Given the description of an element on the screen output the (x, y) to click on. 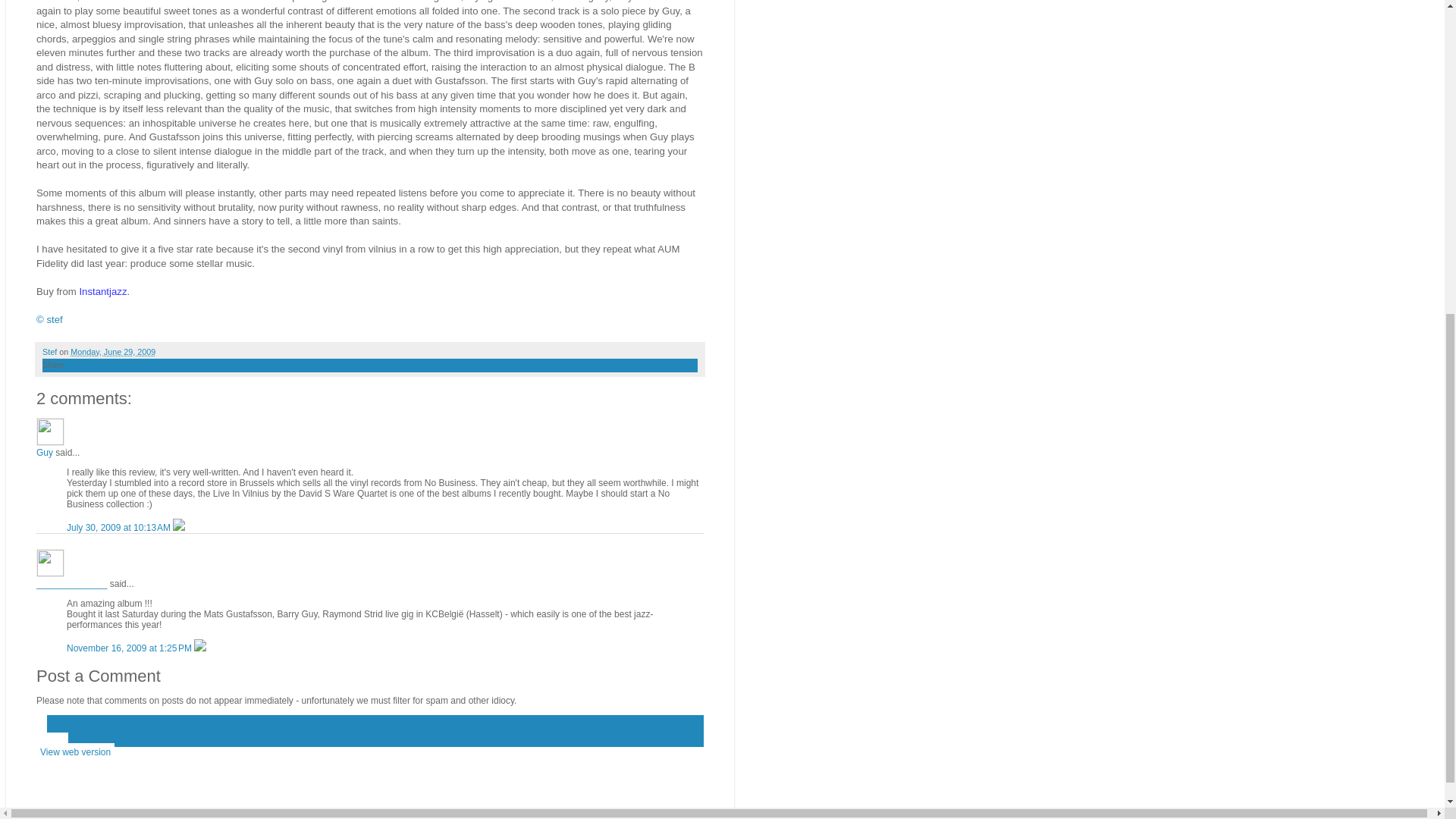
View web version (75, 751)
comment permalink (119, 527)
Blogger (393, 811)
Monday, June 29, 2009 (112, 351)
comment permalink (129, 647)
Delete Comment (199, 647)
author profile (50, 351)
permanent link (112, 351)
Instantjazz (102, 291)
Delete Comment (178, 527)
Stef (50, 351)
Share (53, 364)
Home (52, 741)
